Given the description of an element on the screen output the (x, y) to click on. 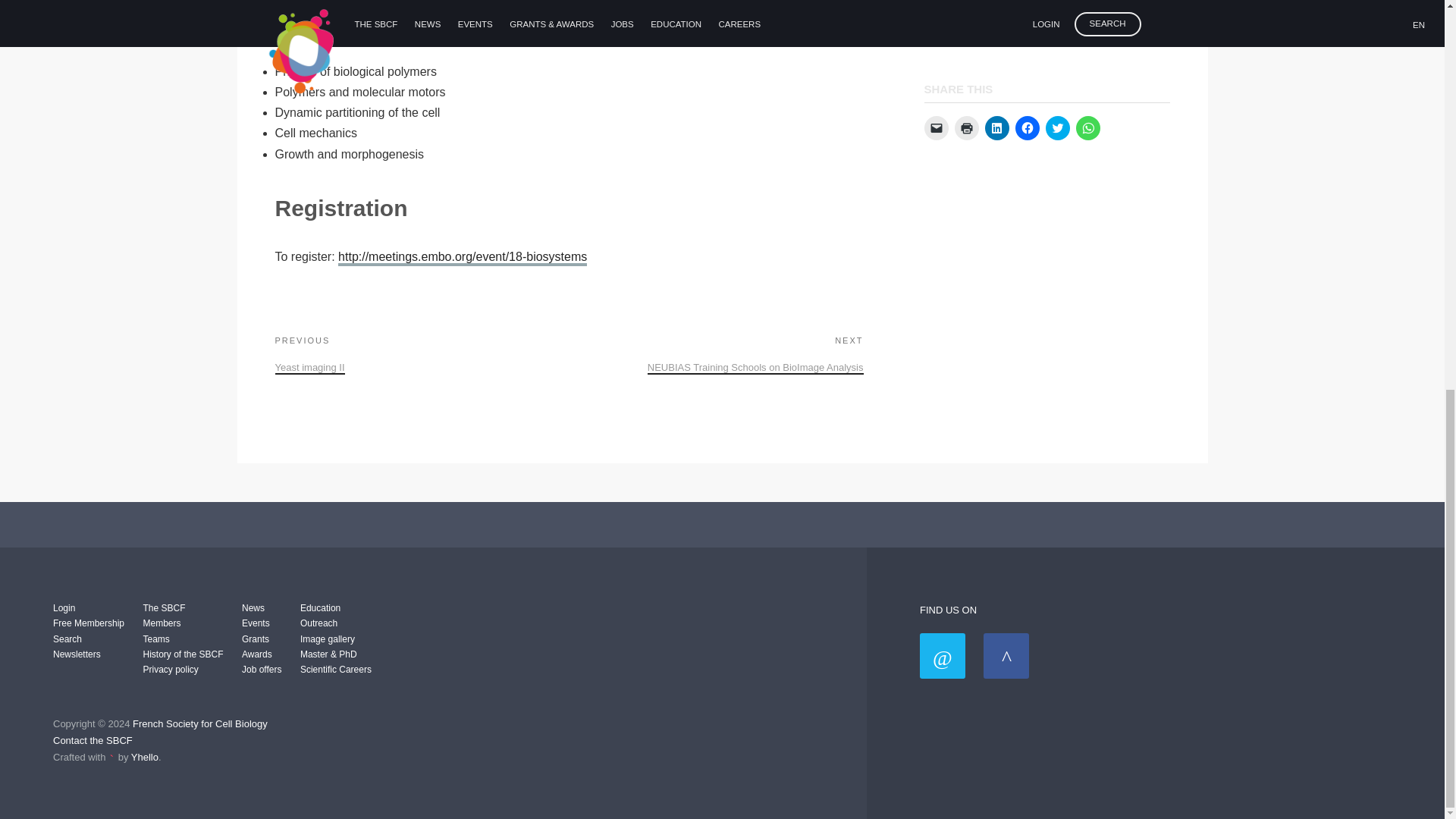
Click to share on WhatsApp (1087, 128)
Click to share on LinkedIn (716, 353)
Click to print (996, 128)
Click to share on Twitter (965, 128)
Free Membership (1056, 128)
Click to share on Facebook (87, 623)
Teams (1026, 128)
History of the SBCF (155, 638)
The SBCF (182, 654)
